Given the description of an element on the screen output the (x, y) to click on. 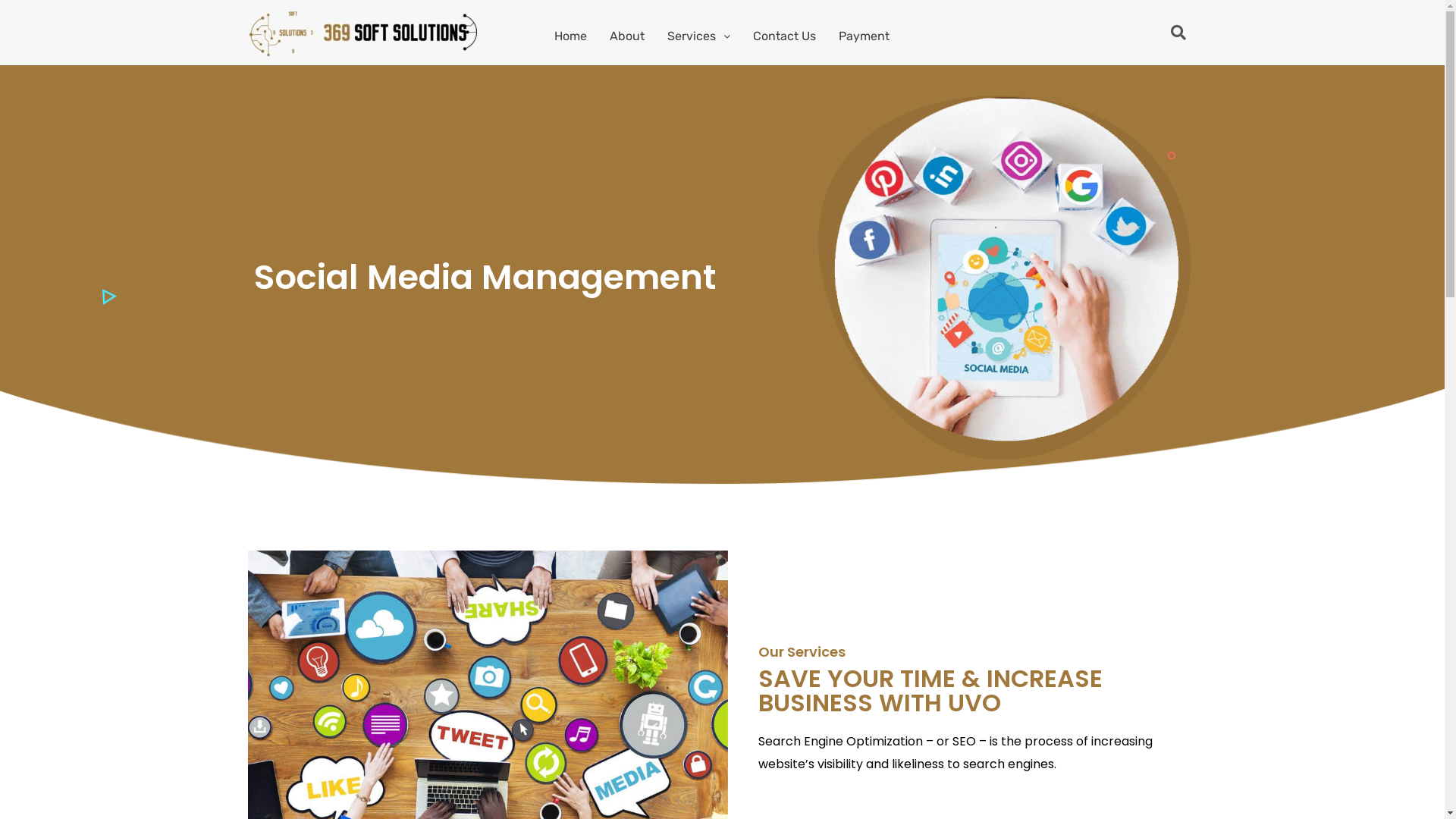
Home Element type: text (570, 35)
Services Element type: text (698, 35)
About Element type: text (626, 35)
Search Element type: hover (1174, 32)
Payment Element type: text (863, 35)
Contact Us Element type: text (784, 35)
